Given the description of an element on the screen output the (x, y) to click on. 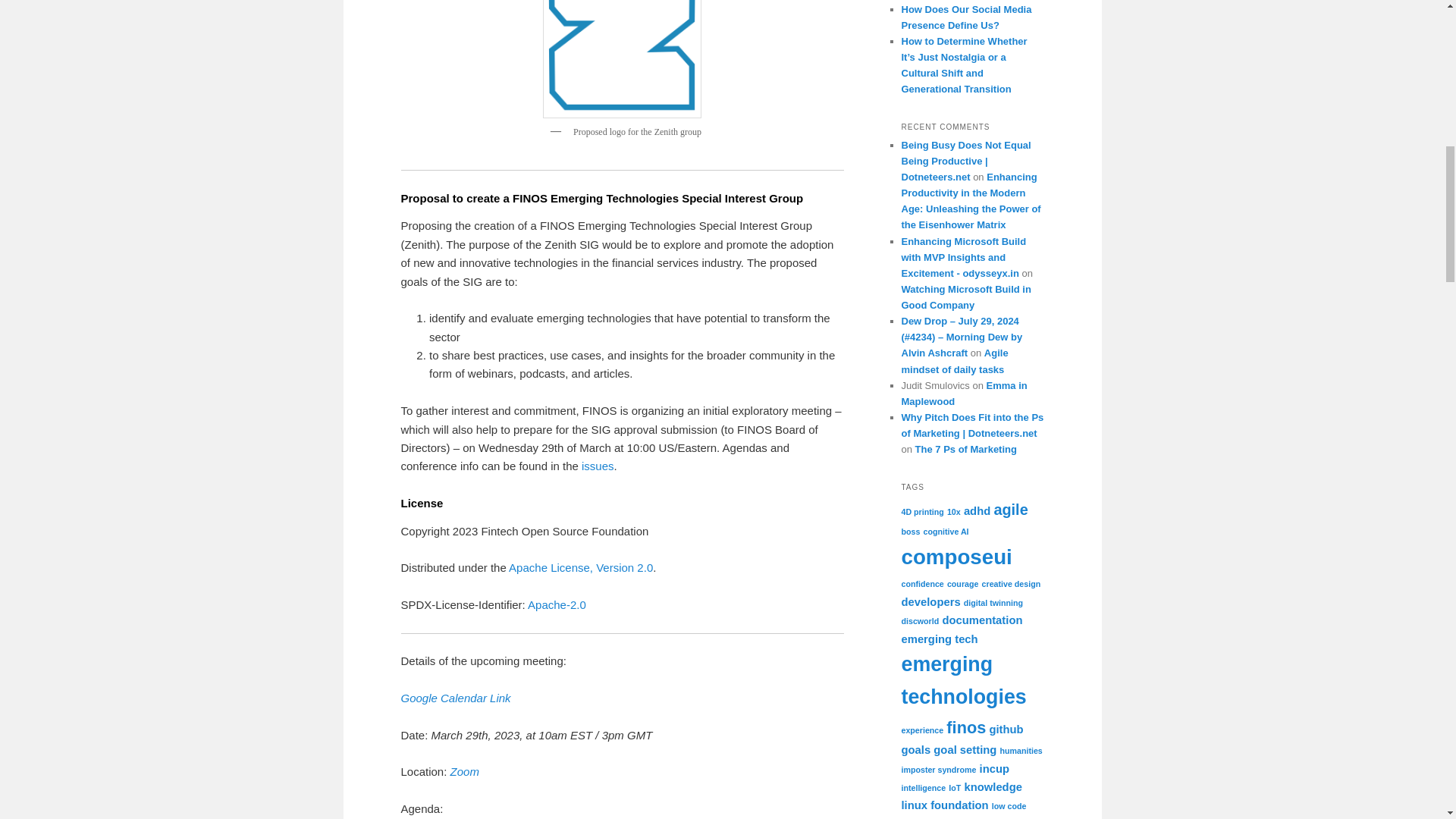
issues (597, 465)
Apache License, Version 2.0 (580, 567)
Apache-2.0 (556, 604)
Google Calendar Link (455, 697)
Zoom (464, 771)
